Given the description of an element on the screen output the (x, y) to click on. 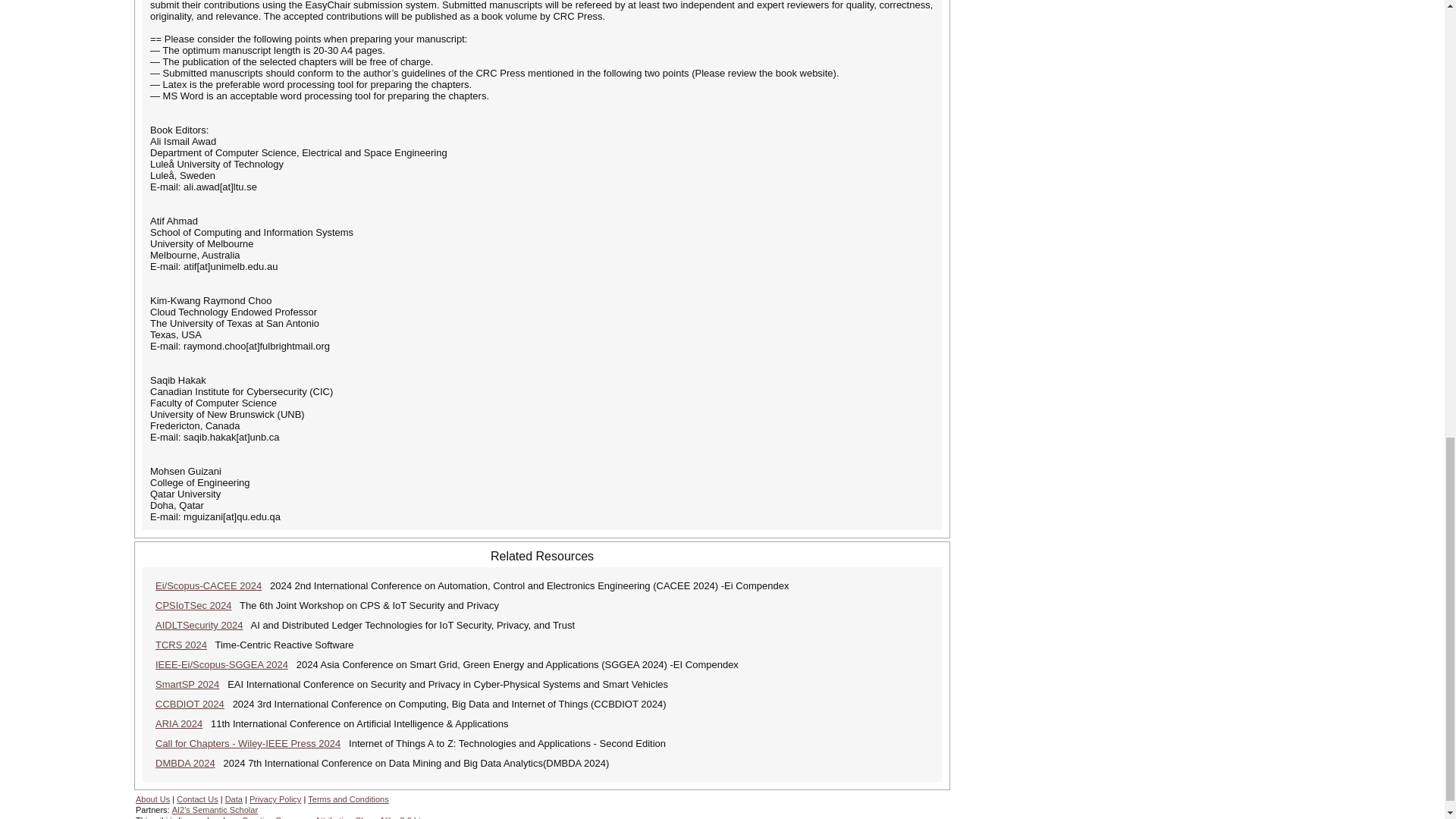
CPSIoTSec 2024 (193, 604)
